Given the description of an element on the screen output the (x, y) to click on. 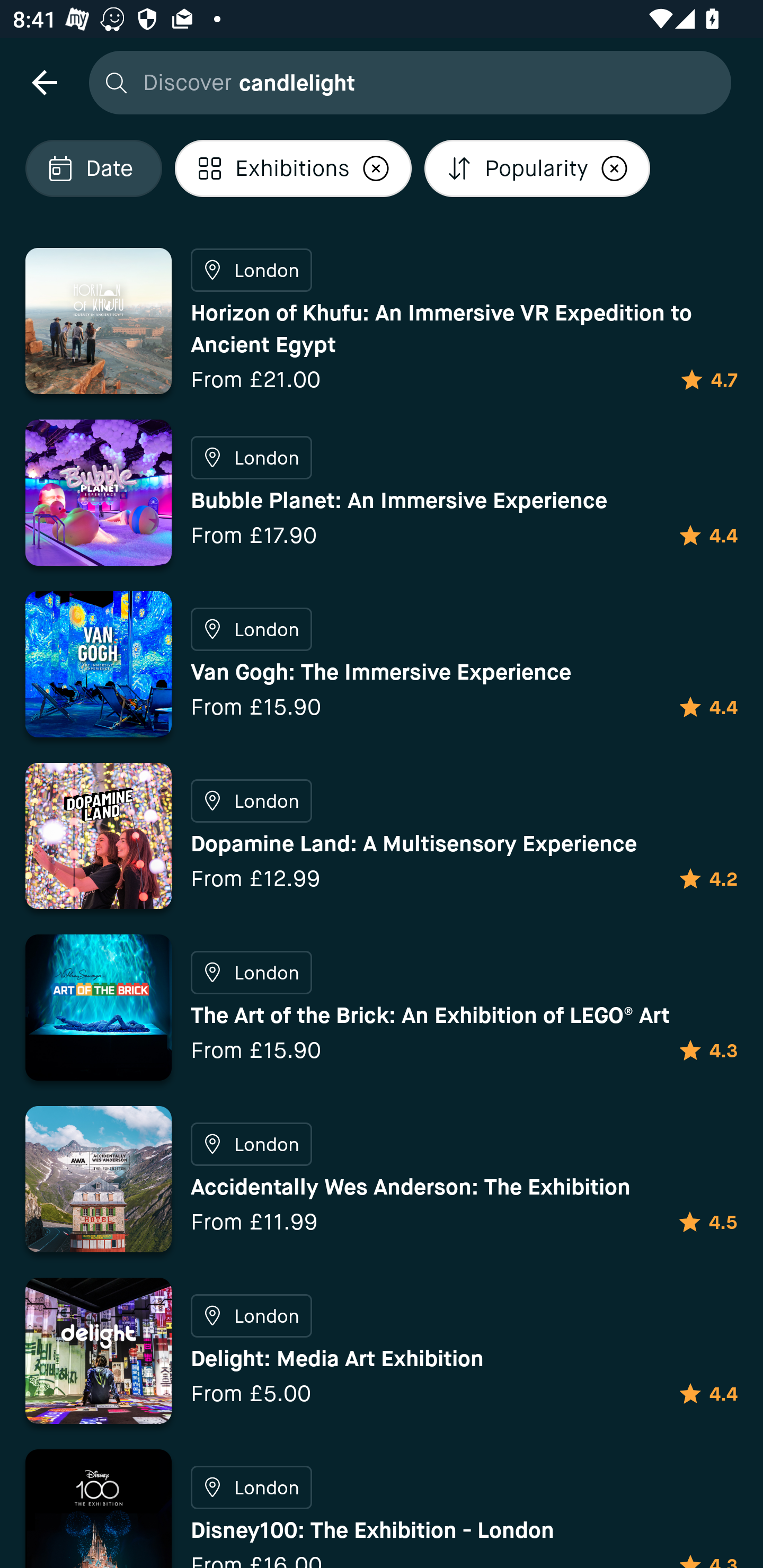
navigation icon (44, 81)
Discover candlelight (405, 81)
Localized description Date (93, 168)
Localized description (376, 168)
Localized description (614, 168)
